Given the description of an element on the screen output the (x, y) to click on. 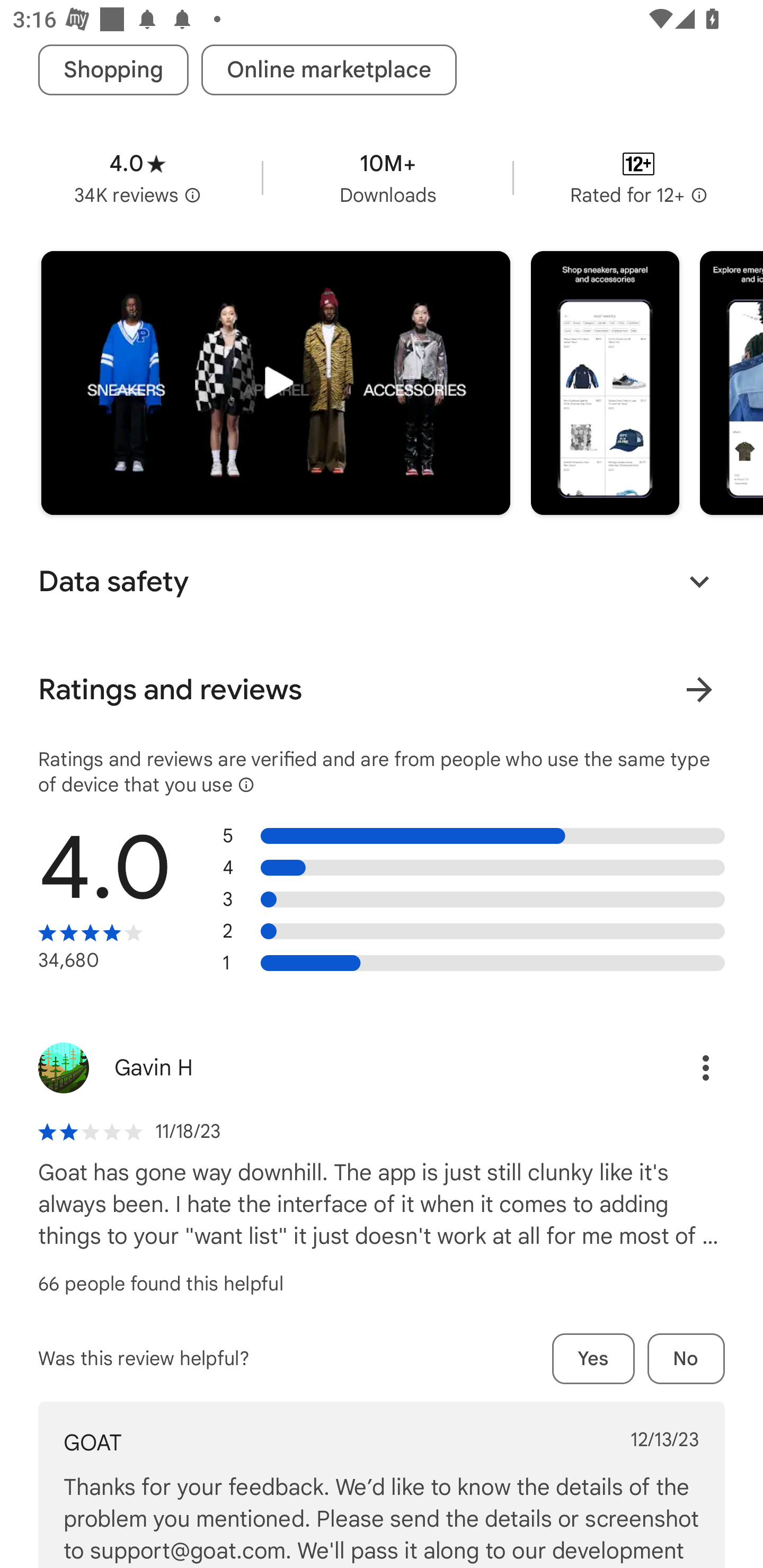
Shopping tag (113, 69)
Online marketplace tag (329, 69)
Average rating 4.0 stars in 34 thousand reviews (137, 177)
Content rating Rated for 12+ (638, 177)
Play trailer for "GOAT – Sneakers & Apparel" (275, 382)
Screenshot "1" of "8" (605, 382)
Data safety Expand (381, 581)
Expand (699, 581)
Ratings and reviews View all ratings and reviews (381, 688)
View all ratings and reviews (699, 689)
Options (686, 1067)
Yes (593, 1358)
No (685, 1358)
